Given the description of an element on the screen output the (x, y) to click on. 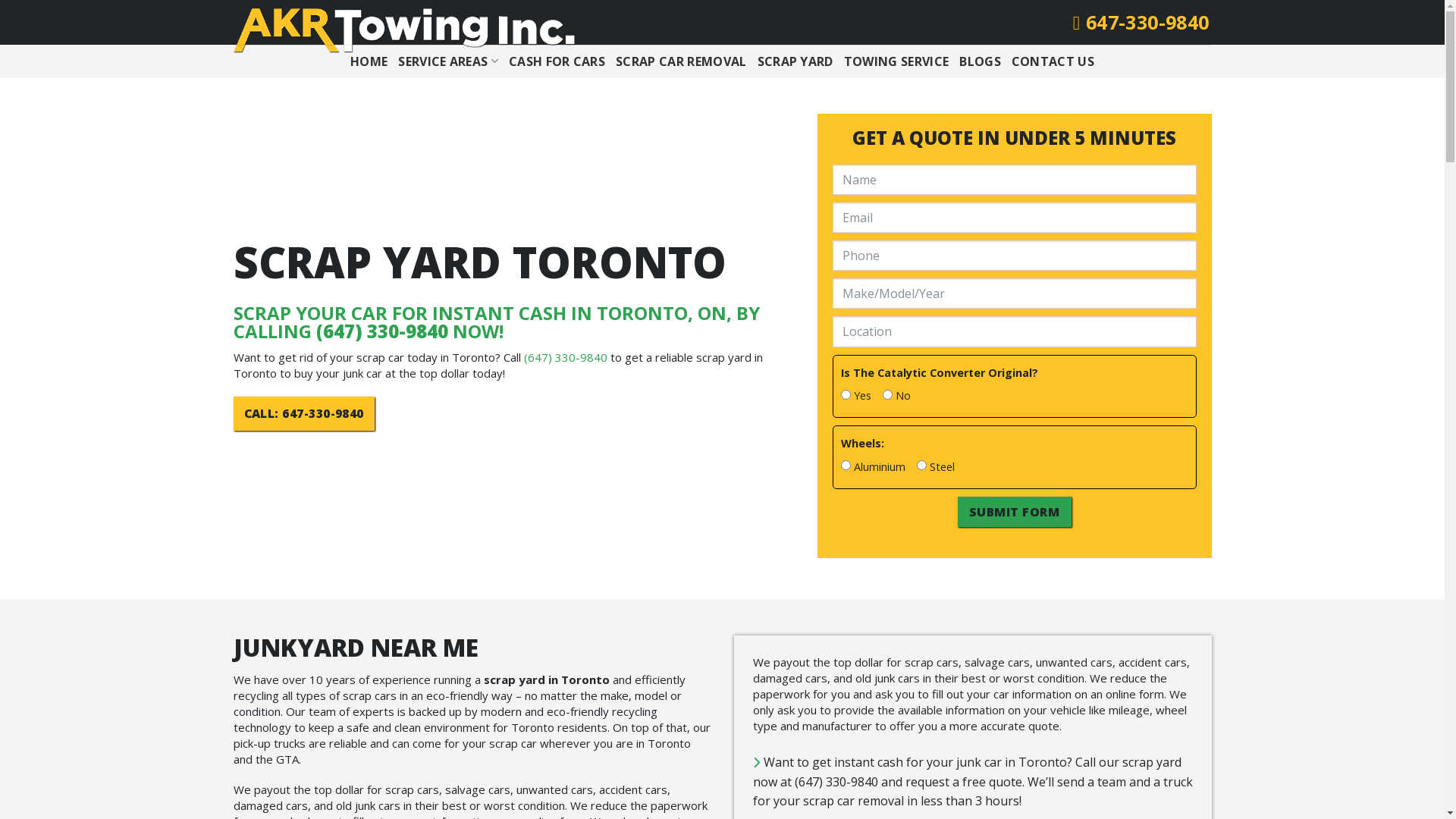
(647) 330-9840 Element type: text (381, 330)
CONTACT US Element type: text (1052, 60)
(647) 330-9840 Element type: text (564, 356)
SCRAP YARD Element type: text (795, 60)
CASH FOR CARS Element type: text (556, 60)
TOWING SERVICE Element type: text (896, 60)
HOME Element type: text (368, 60)
CALL: 647-330-9840 Element type: text (303, 413)
SERVICE AREAS Element type: text (448, 60)
BLOGS Element type: text (980, 60)
SUBMIT FORM Element type: text (1013, 511)
SCRAP CAR REMOVAL Element type: text (680, 60)
